Given the description of an element on the screen output the (x, y) to click on. 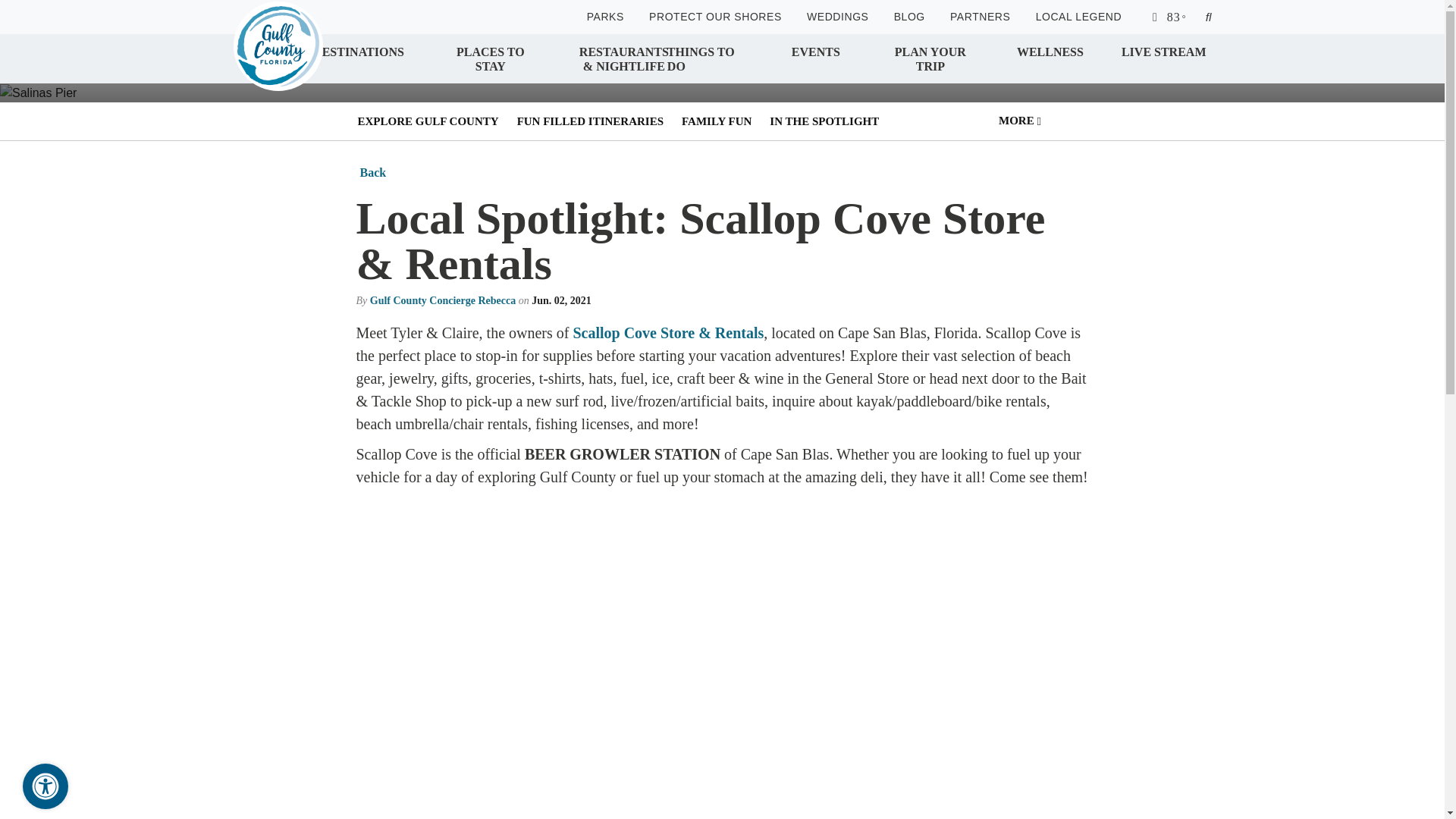
DESTINATIONS (358, 58)
PARKS (605, 17)
THINGS TO DO (710, 58)
PARTNERS (980, 17)
PROTECT OUR SHORES (715, 17)
PLACES TO STAY (490, 58)
LOCAL LEGEND (1078, 17)
WEDDINGS (836, 17)
BLOG (908, 17)
EVENTS (816, 58)
